Given the description of an element on the screen output the (x, y) to click on. 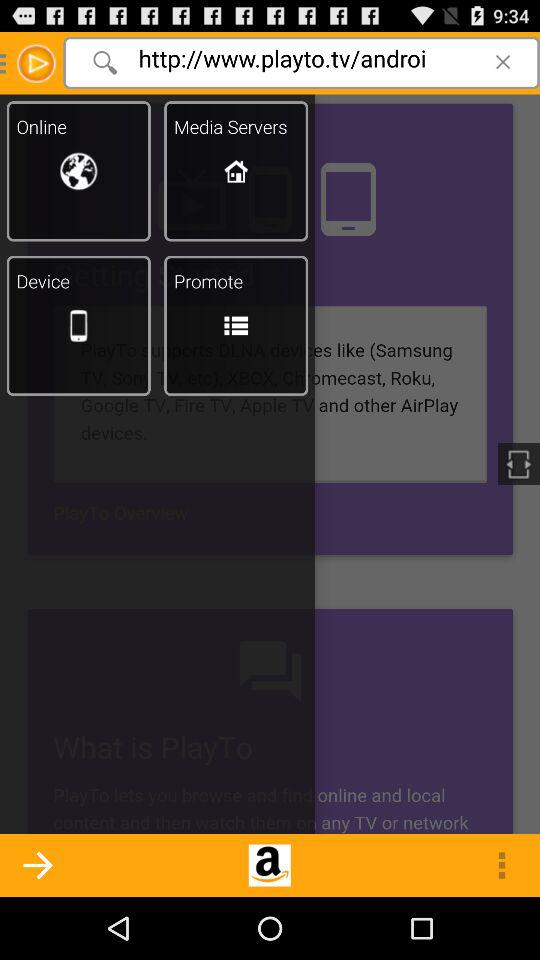
the three vertical dot icon shown at the bottom right corner (501, 865)
the white colored icon present at the center right of the page (518, 463)
the logo shown at the bottom center of the page (269, 865)
